Given the description of an element on the screen output the (x, y) to click on. 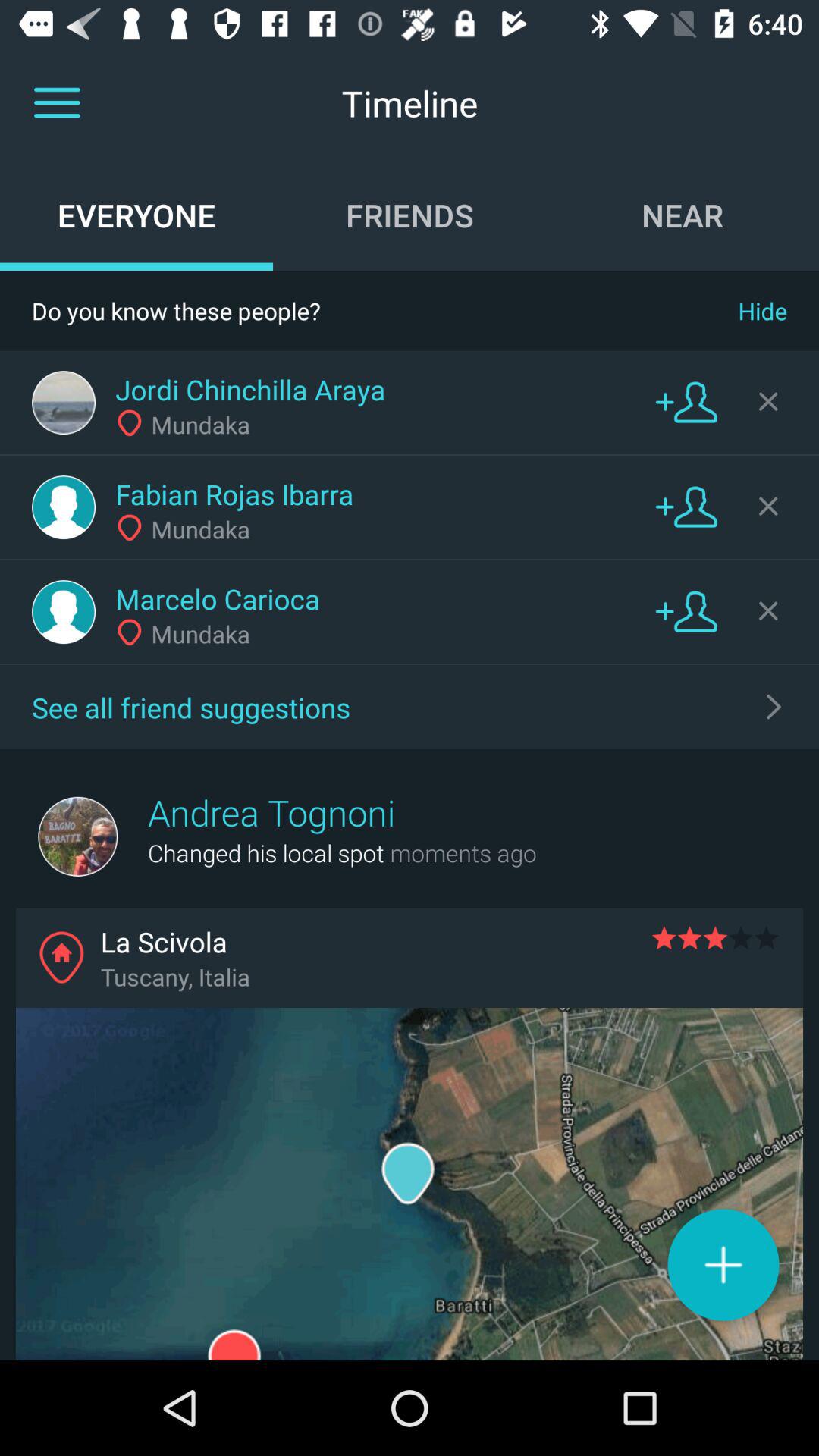
dismiss (768, 401)
